Given the description of an element on the screen output the (x, y) to click on. 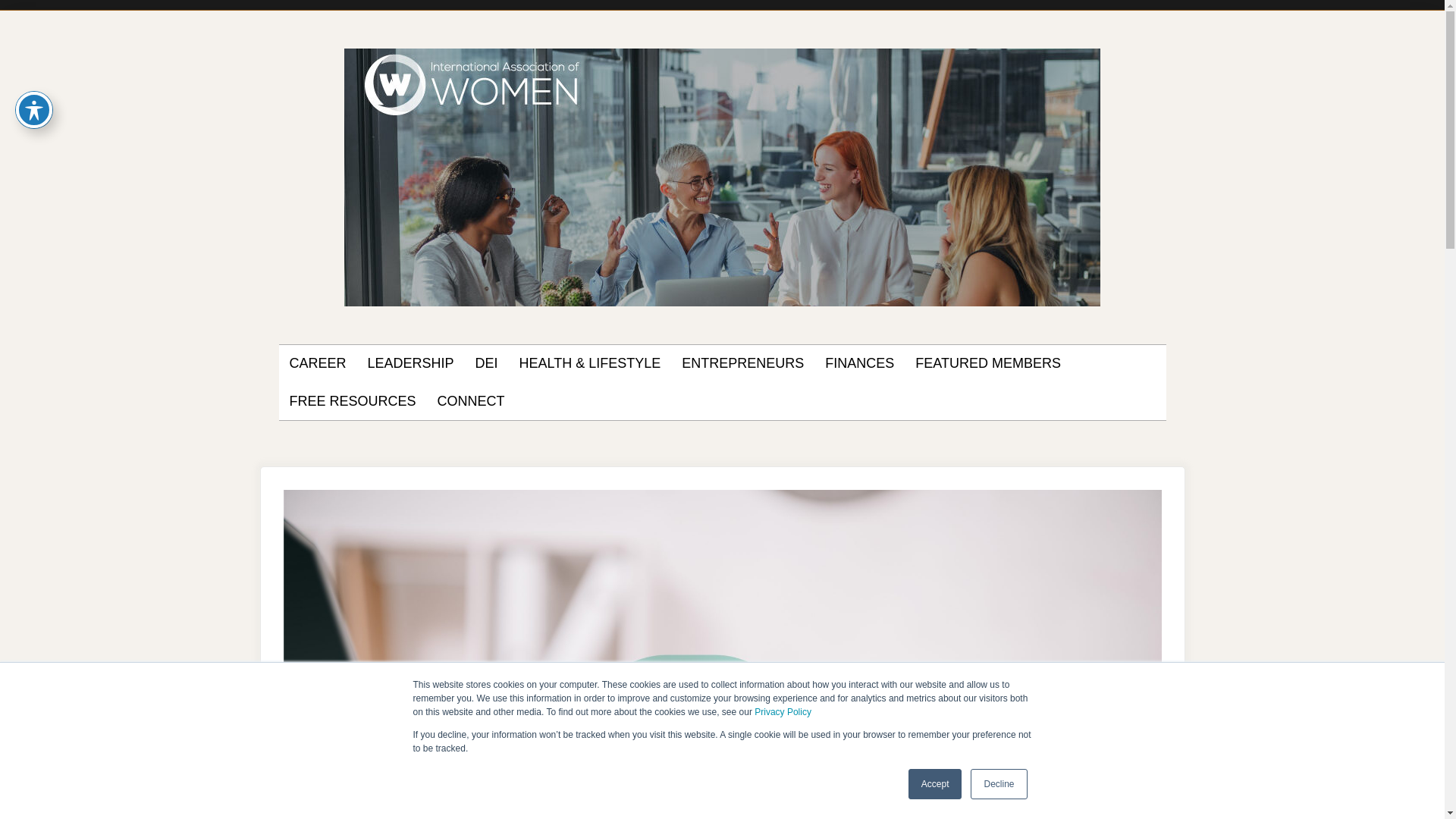
Privacy Policy (782, 711)
FINANCES (859, 363)
Decline (998, 784)
ENTREPRENEURS (742, 363)
Accept (935, 784)
CAREER (317, 363)
LEADERSHIP (411, 363)
FEATURED MEMBERS (988, 363)
CONNECT (471, 401)
FREE RESOURCES (352, 401)
